Given the description of an element on the screen output the (x, y) to click on. 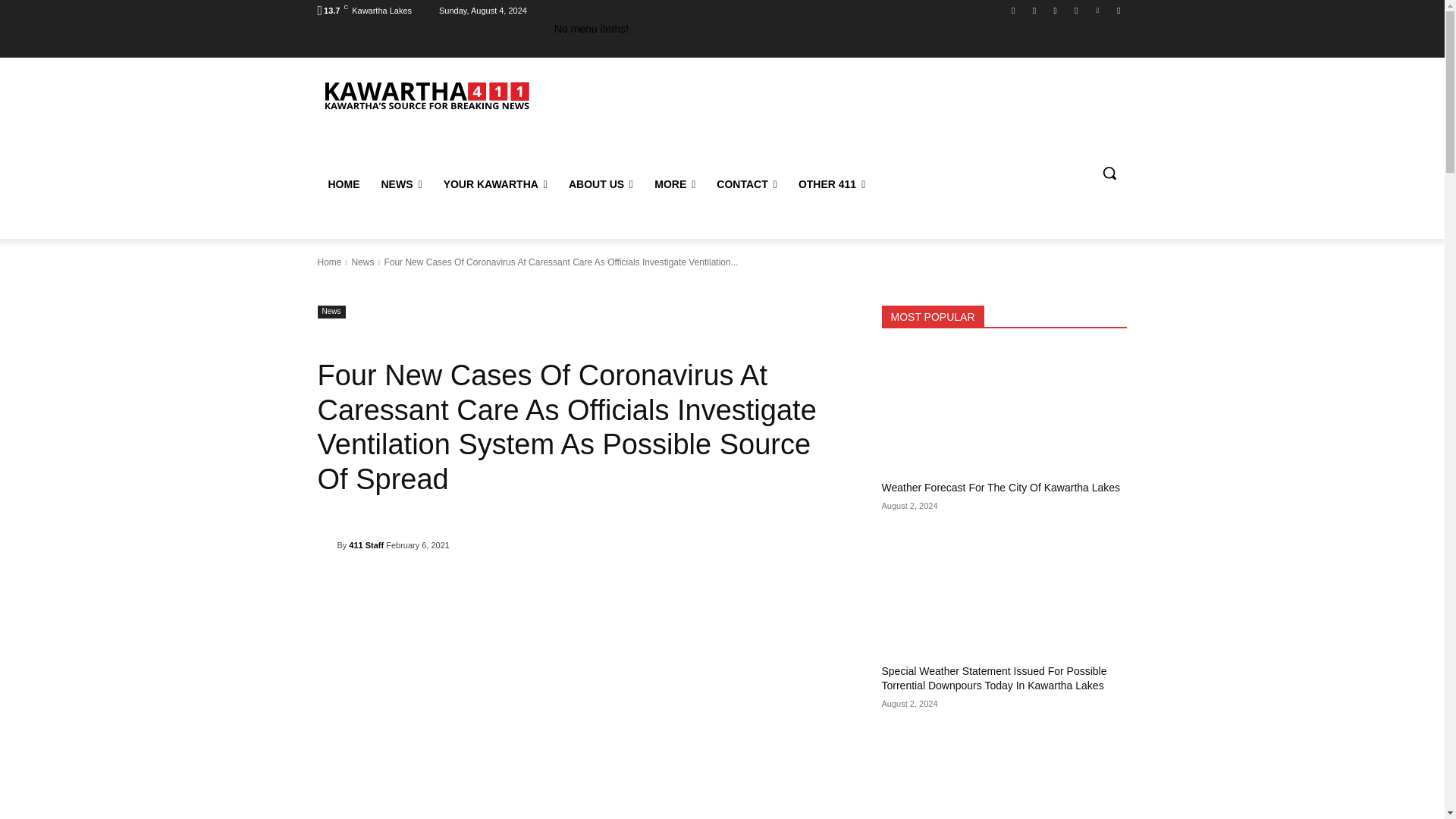
Telegram (1075, 9)
Youtube (1117, 9)
View all posts in News (362, 262)
Paypal (1055, 9)
Twitter (1097, 9)
Kawartha 411 News (425, 94)
Instagram (1034, 9)
Facebook (1013, 9)
